Given the description of an element on the screen output the (x, y) to click on. 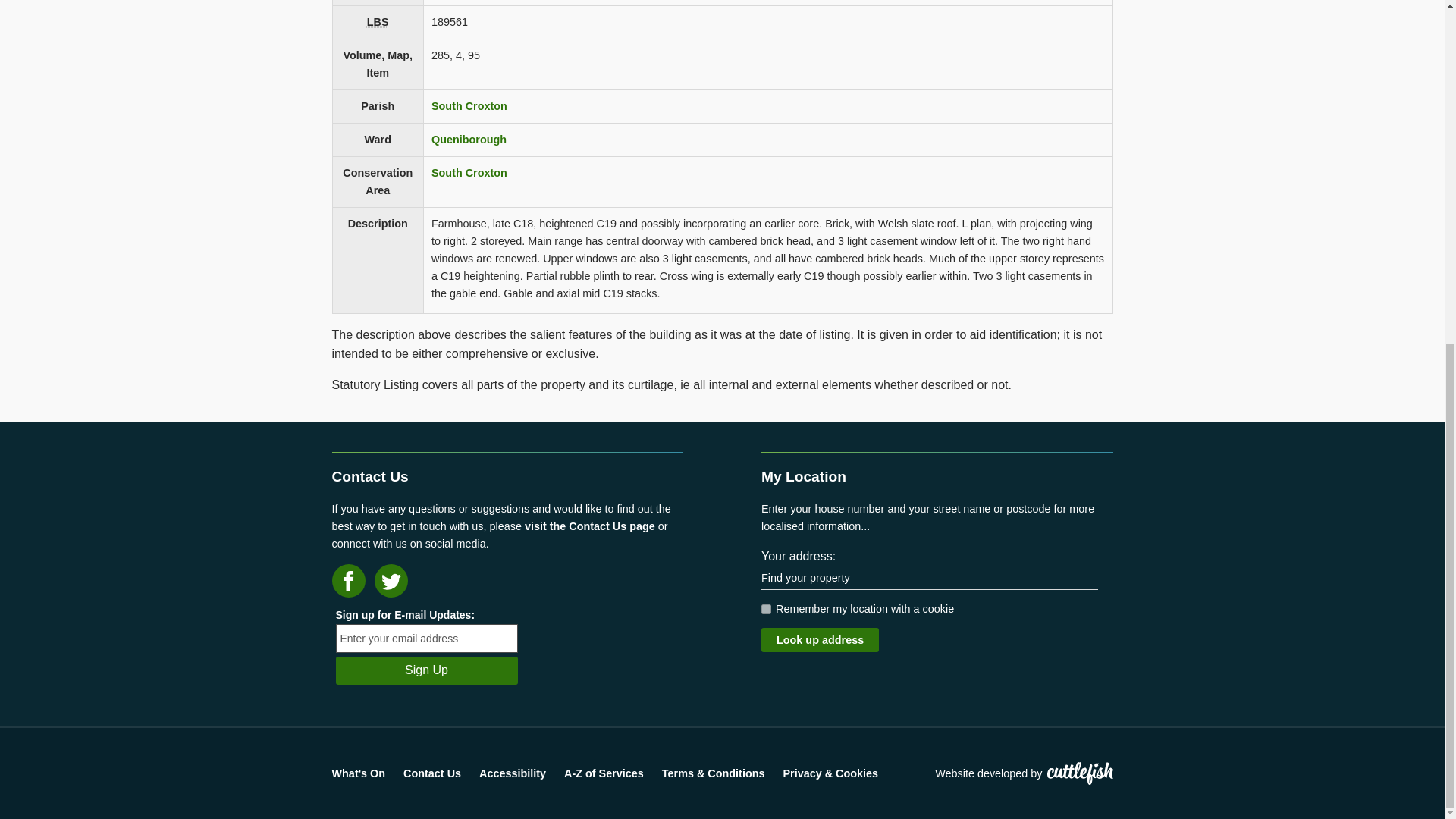
South Croxton (468, 105)
Listed Building System (377, 21)
South Croxton (468, 173)
1 (766, 609)
Queniborough (468, 139)
1 (766, 609)
Sign Up (425, 670)
